Given the description of an element on the screen output the (x, y) to click on. 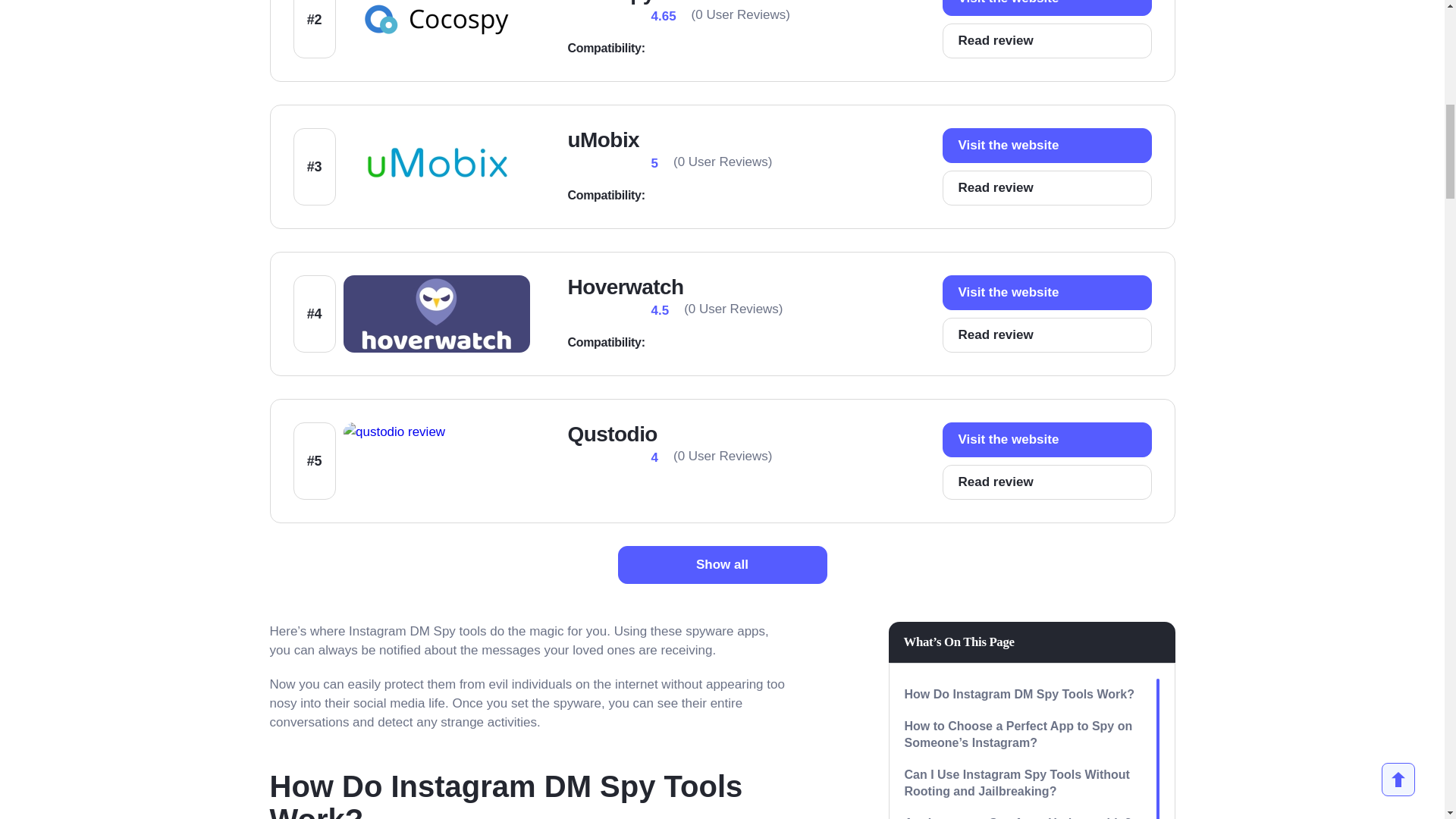
Hoverwatch (624, 286)
android icon (724, 48)
ios icon (670, 195)
Read review (1046, 187)
android icon (697, 195)
Cocospy (610, 2)
Visit the website (1046, 144)
Read review (1046, 334)
Read review (1046, 40)
windows icon (670, 342)
